Given the description of an element on the screen output the (x, y) to click on. 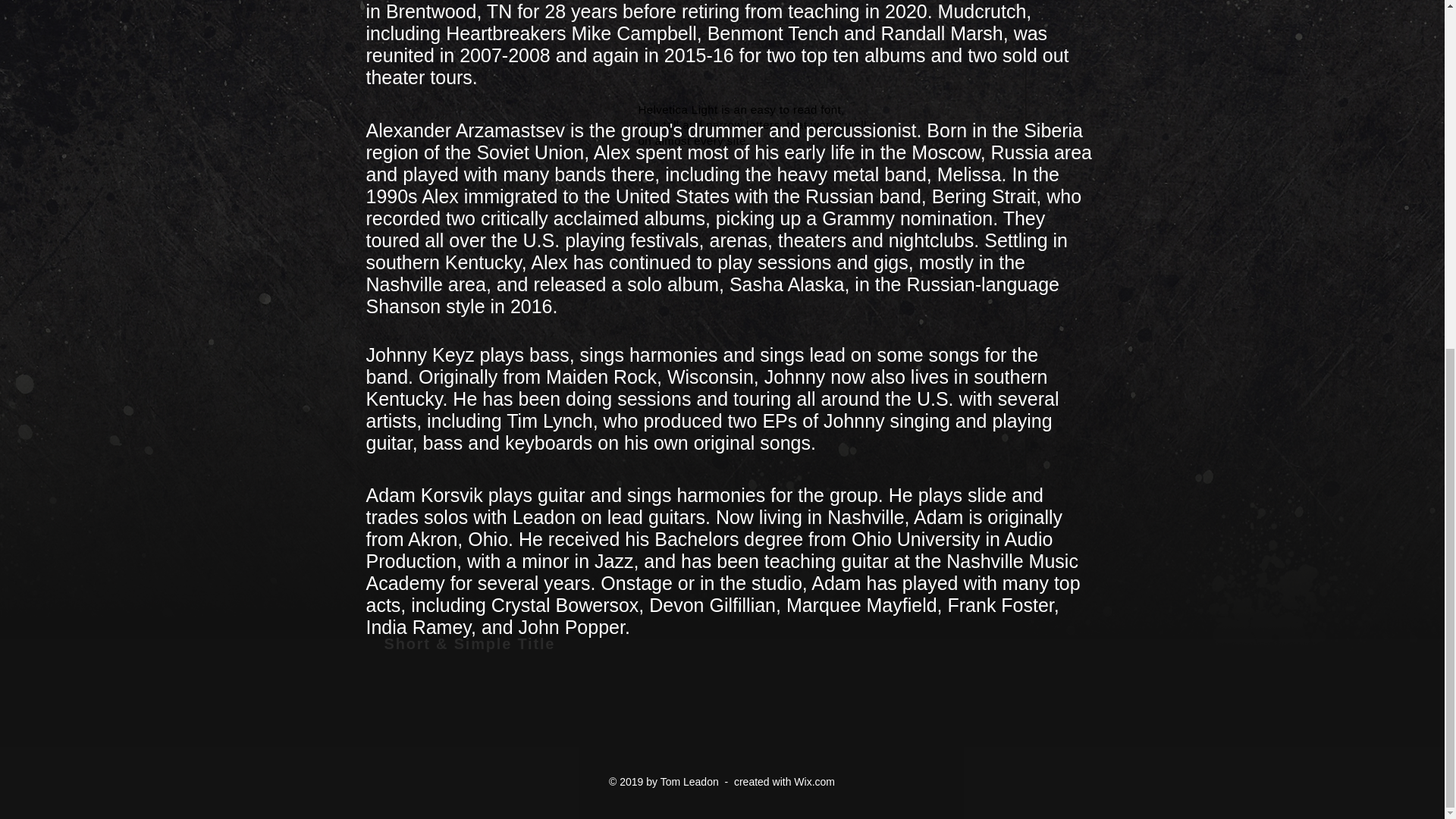
Wix.com (813, 781)
